Given the description of an element on the screen output the (x, y) to click on. 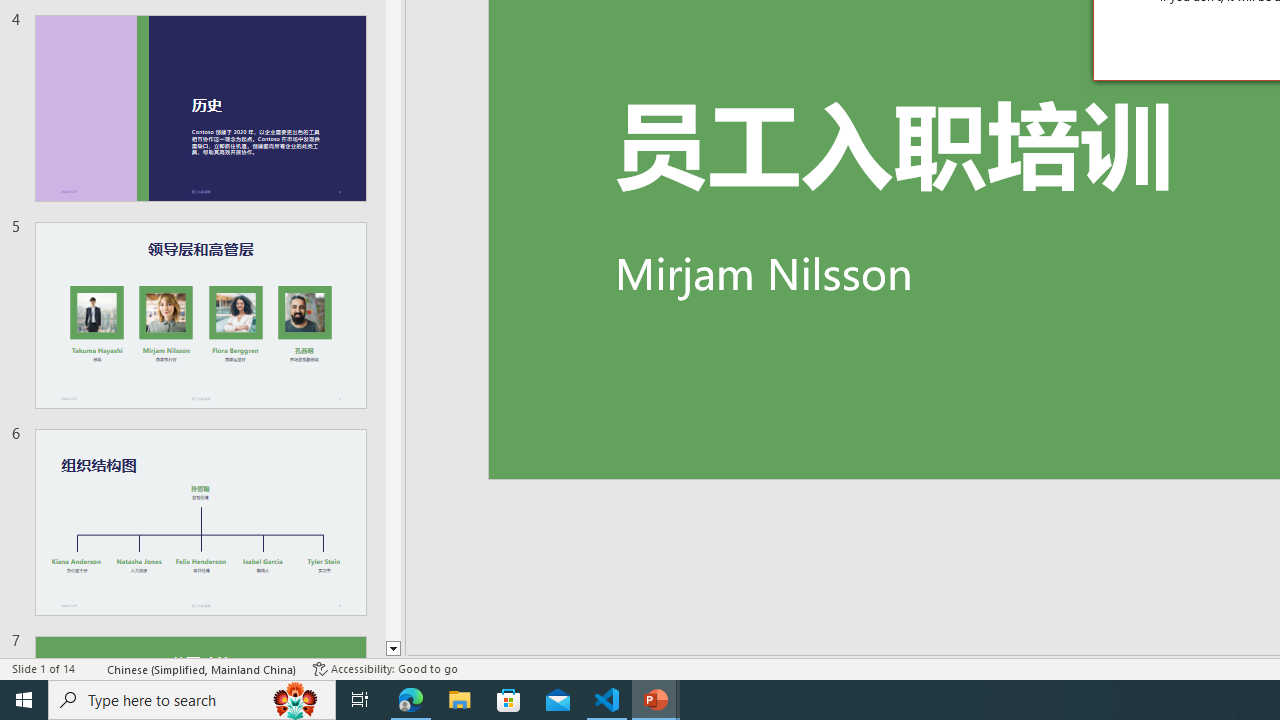
Spell Check  (92, 668)
PowerPoint - 2 running windows (656, 699)
